Given the description of an element on the screen output the (x, y) to click on. 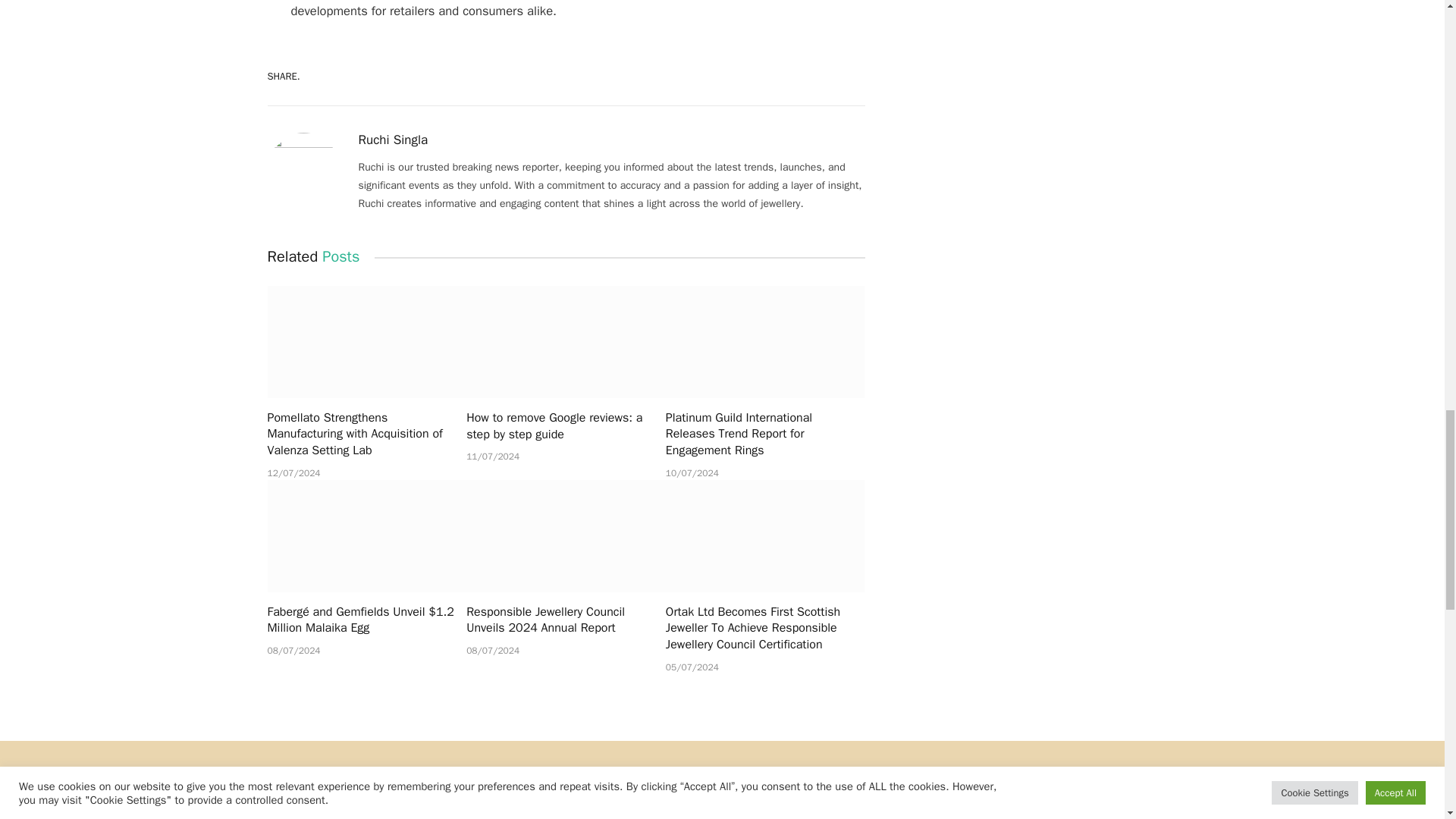
Share on Twitter (625, 76)
Share on Facebook (572, 76)
Email (837, 76)
LinkedIn (731, 76)
Share on Pinterest (678, 76)
Pinterest (678, 76)
Tumblr (784, 76)
Twitter (625, 76)
Share on LinkedIn (731, 76)
Ruchi Singla (393, 140)
Facebook (572, 76)
